Given the description of an element on the screen output the (x, y) to click on. 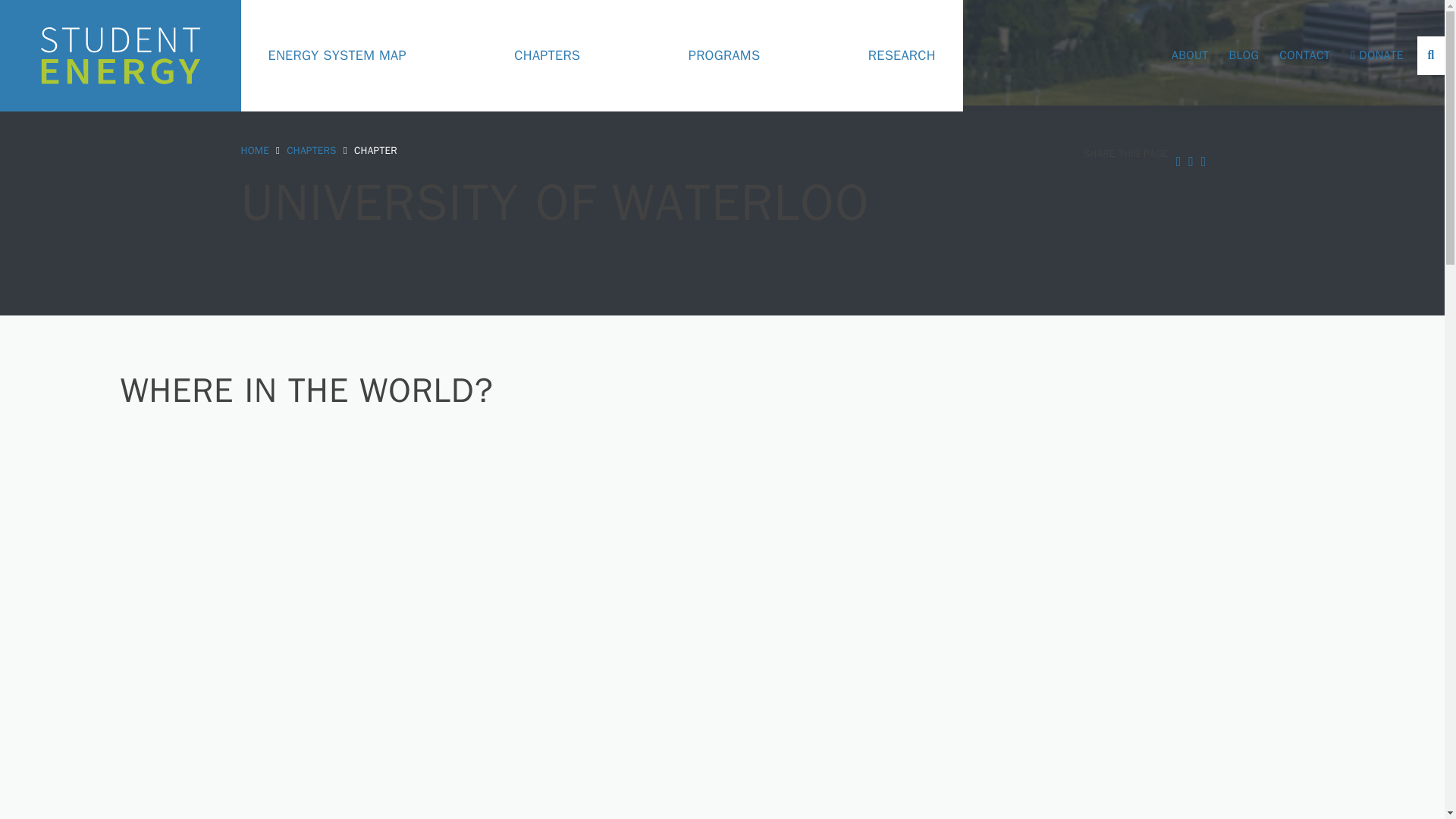
CONTACT (1304, 55)
ENERGY SYSTEM MAP (336, 55)
ABOUT (1189, 55)
CHAPTERS (311, 150)
DONATE (1376, 55)
CHAPTERS (546, 55)
RESEARCH (901, 55)
BLOG (1244, 55)
HOME (255, 150)
PROGRAMS (724, 55)
